Given the description of an element on the screen output the (x, y) to click on. 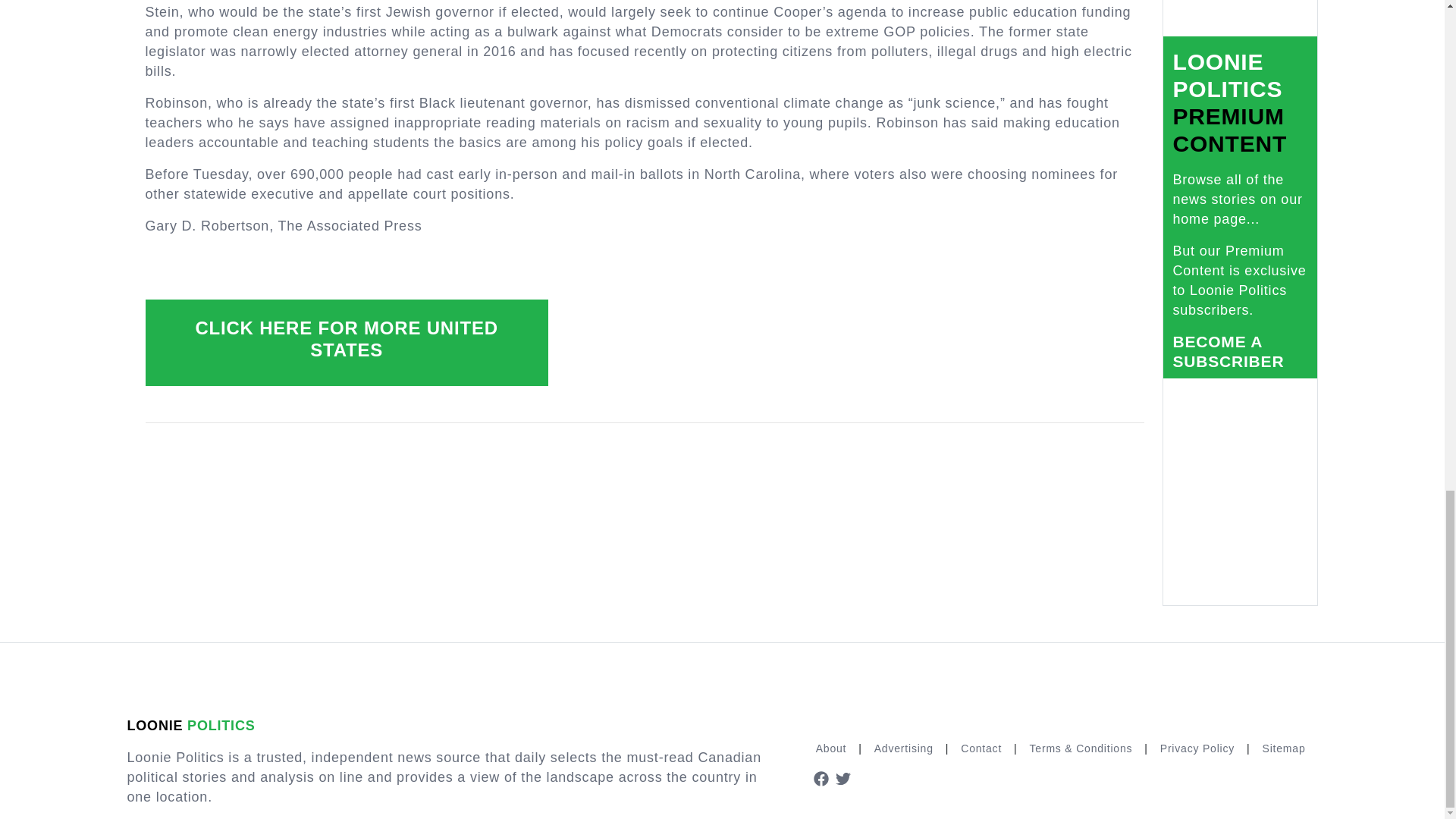
Advertising (902, 747)
Sitemap (1283, 747)
Privacy Policy (1197, 747)
Contact (981, 747)
About (831, 747)
